Given the description of an element on the screen output the (x, y) to click on. 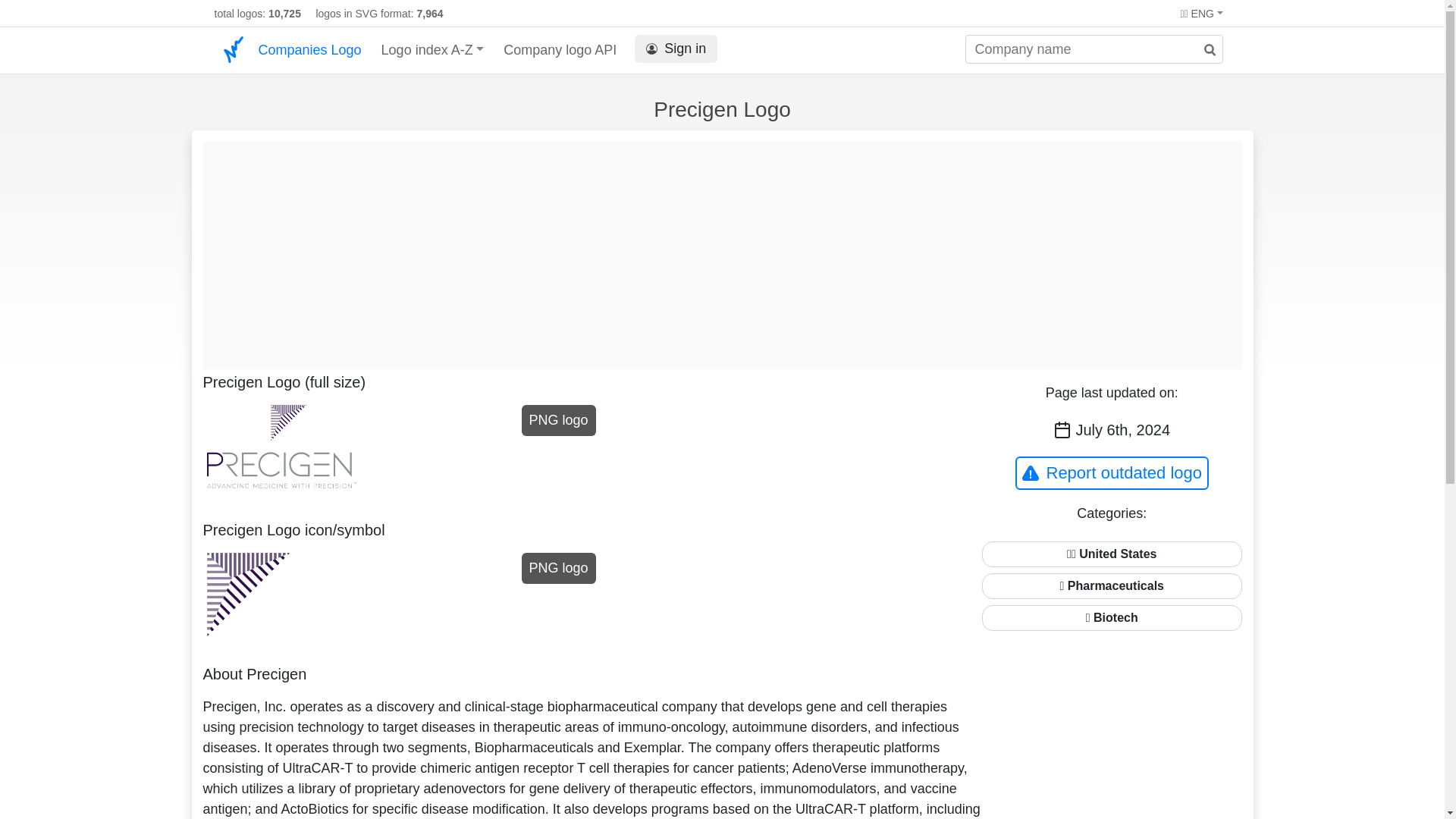
PNG logo (558, 567)
Add company logos to your Apps or Websites (560, 50)
PNG logo (558, 419)
Sign in (675, 49)
Sign in (676, 47)
Companies Logo (308, 50)
Company logo API (560, 50)
Logo index A-Z (432, 50)
